Given the description of an element on the screen output the (x, y) to click on. 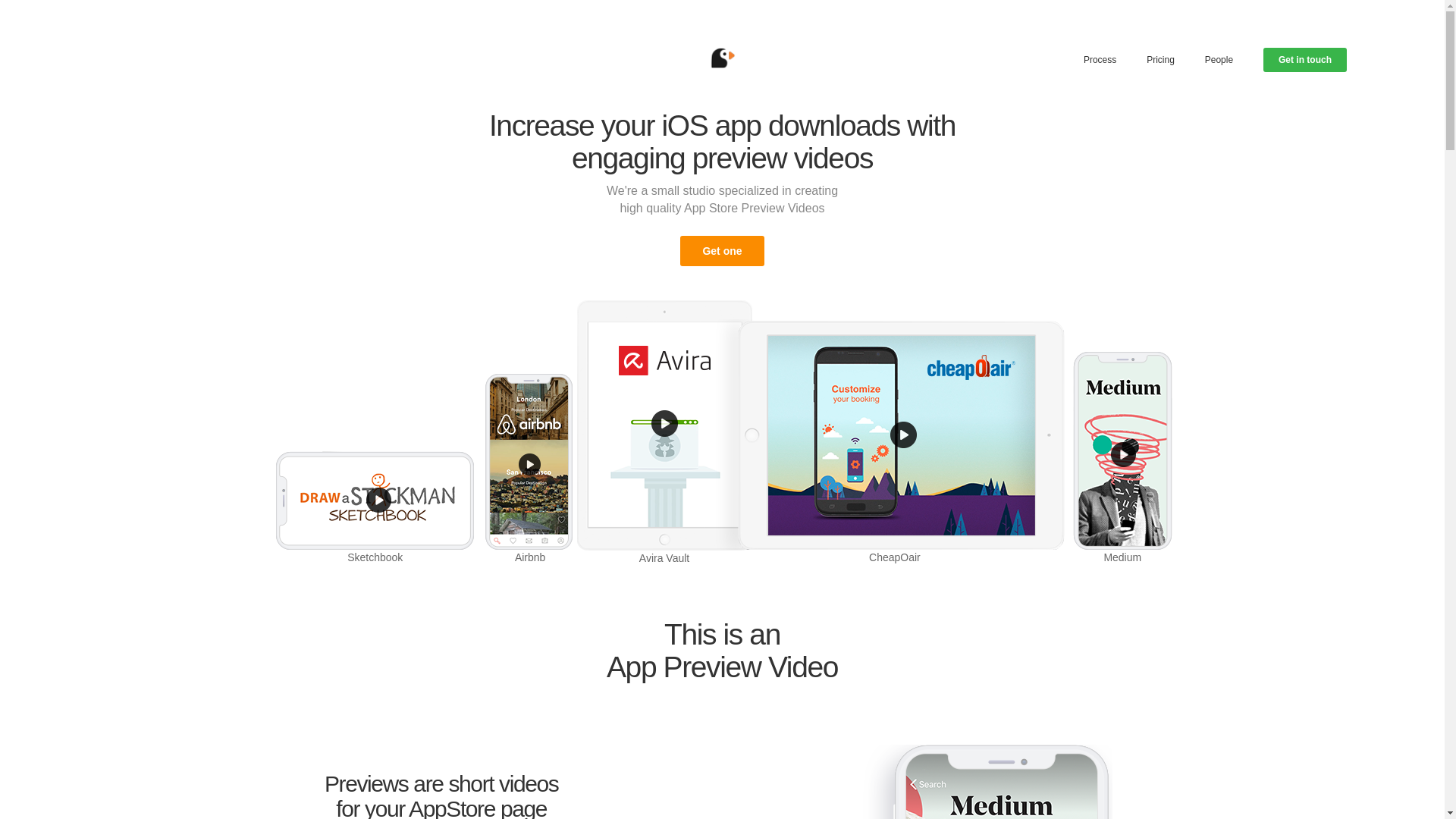
Medium Element type: text (1122, 458)
CheapOair Element type: text (894, 445)
Airbnb Element type: text (530, 472)
Get one Element type: text (721, 250)
Get in touch Element type: text (1304, 59)
Avira Vault Element type: text (664, 429)
Sketchbook Element type: text (374, 511)
People Element type: text (1218, 59)
Pricing Element type: text (1160, 59)
Process Element type: text (1099, 59)
